Given the description of an element on the screen output the (x, y) to click on. 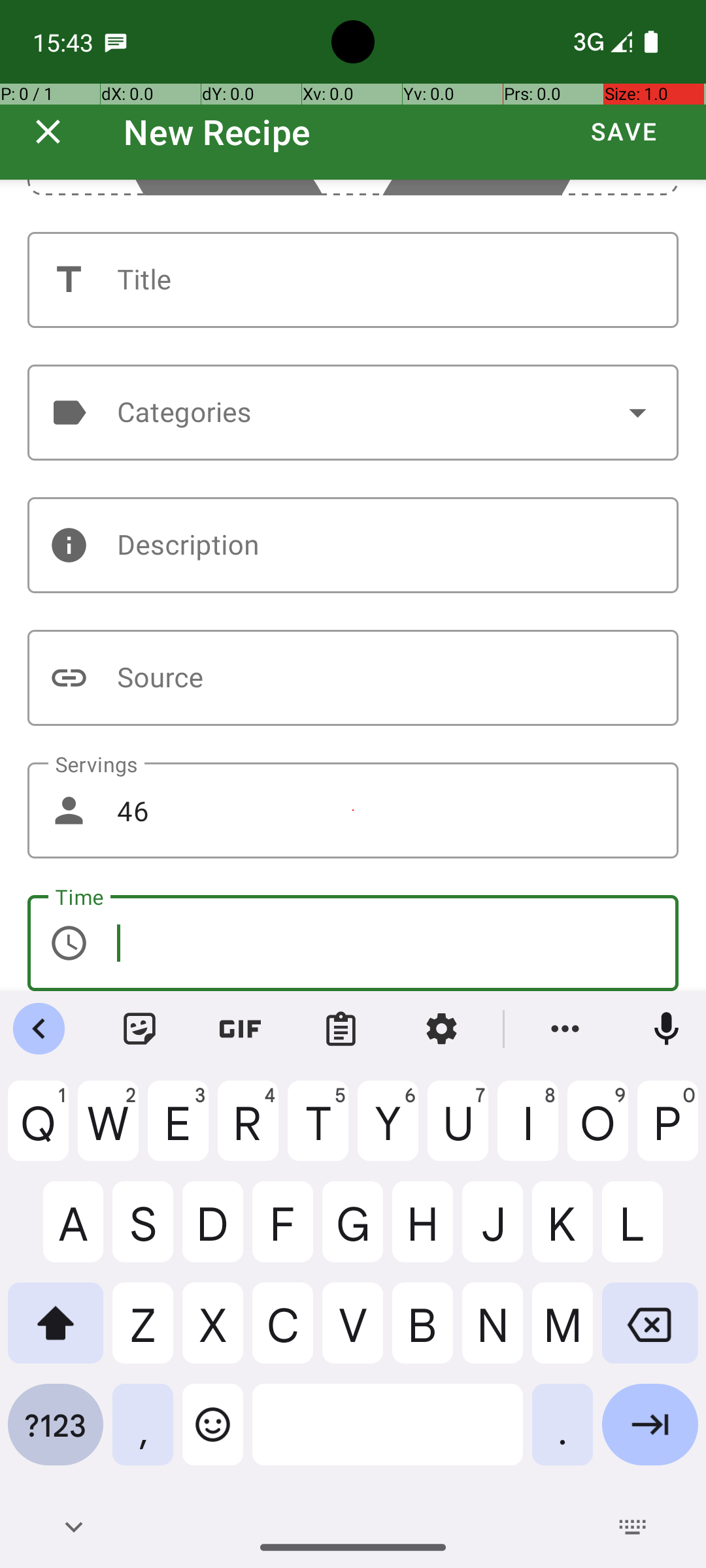
Title Element type: android.widget.EditText (352, 279)
Description Element type: android.widget.EditText (352, 545)
Source Element type: android.widget.EditText (352, 677)
46 Element type: android.widget.EditText (352, 810)
15:43 Element type: android.widget.TextView (64, 41)
